Given the description of an element on the screen output the (x, y) to click on. 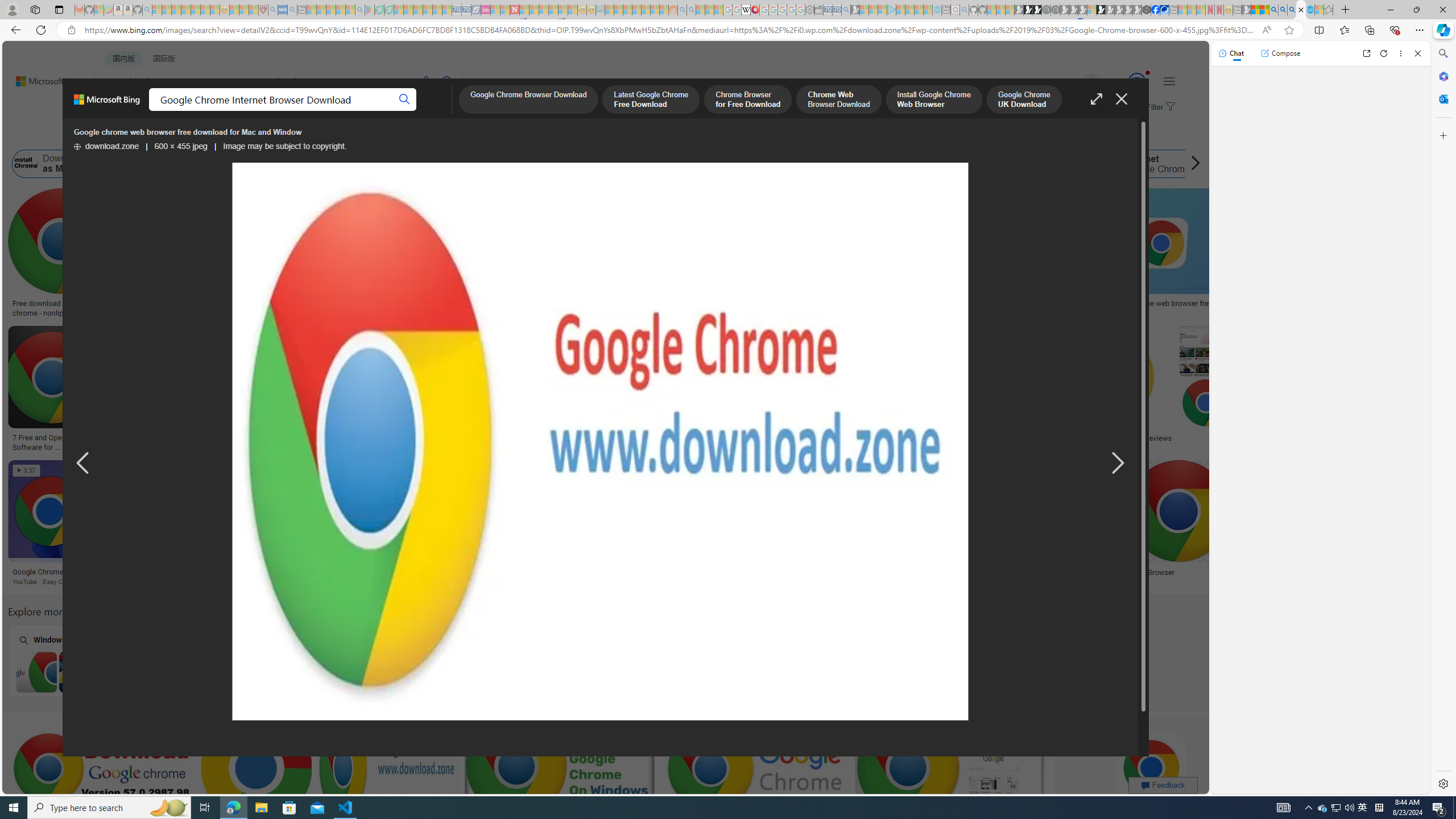
wizardsgase - Blog (844, 303)
WEB (114, 111)
WEB (114, 111)
Chrome Browser for Free Download (748, 100)
Google Chrome Search Browser (480, 163)
Download video online chrome - hresadish (188, 307)
